Given the description of an element on the screen output the (x, y) to click on. 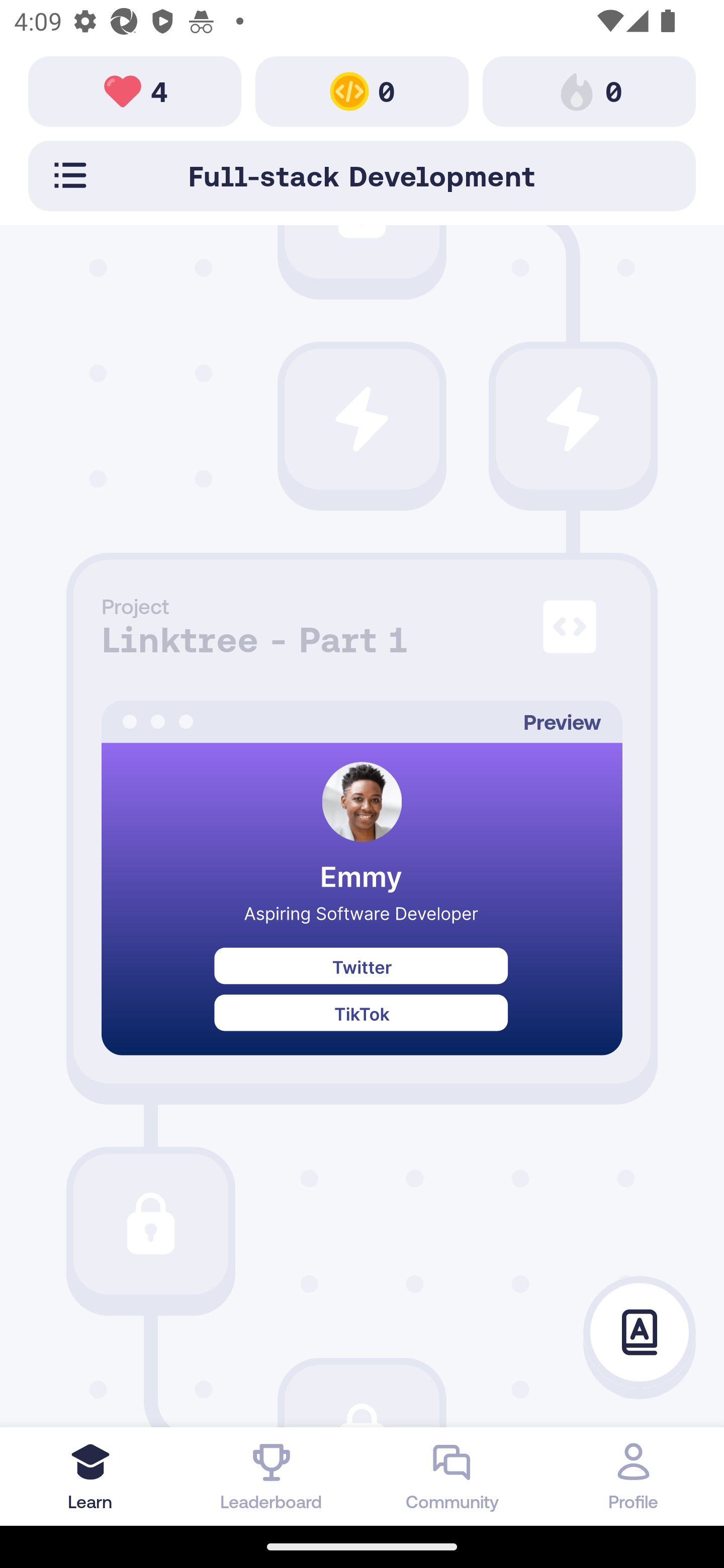
Path Toolbar Image 4 (134, 90)
Path Toolbar Image 0 (361, 90)
Path Toolbar Image 0 (588, 90)
Path Toolbar Selector Full-stack Development (361, 175)
Path Icon (361, 418)
Path Icon (572, 418)
Path Icon (150, 1224)
Glossary Icon (639, 1332)
Leaderboard (271, 1475)
Community (452, 1475)
Profile (633, 1475)
